Given the description of an element on the screen output the (x, y) to click on. 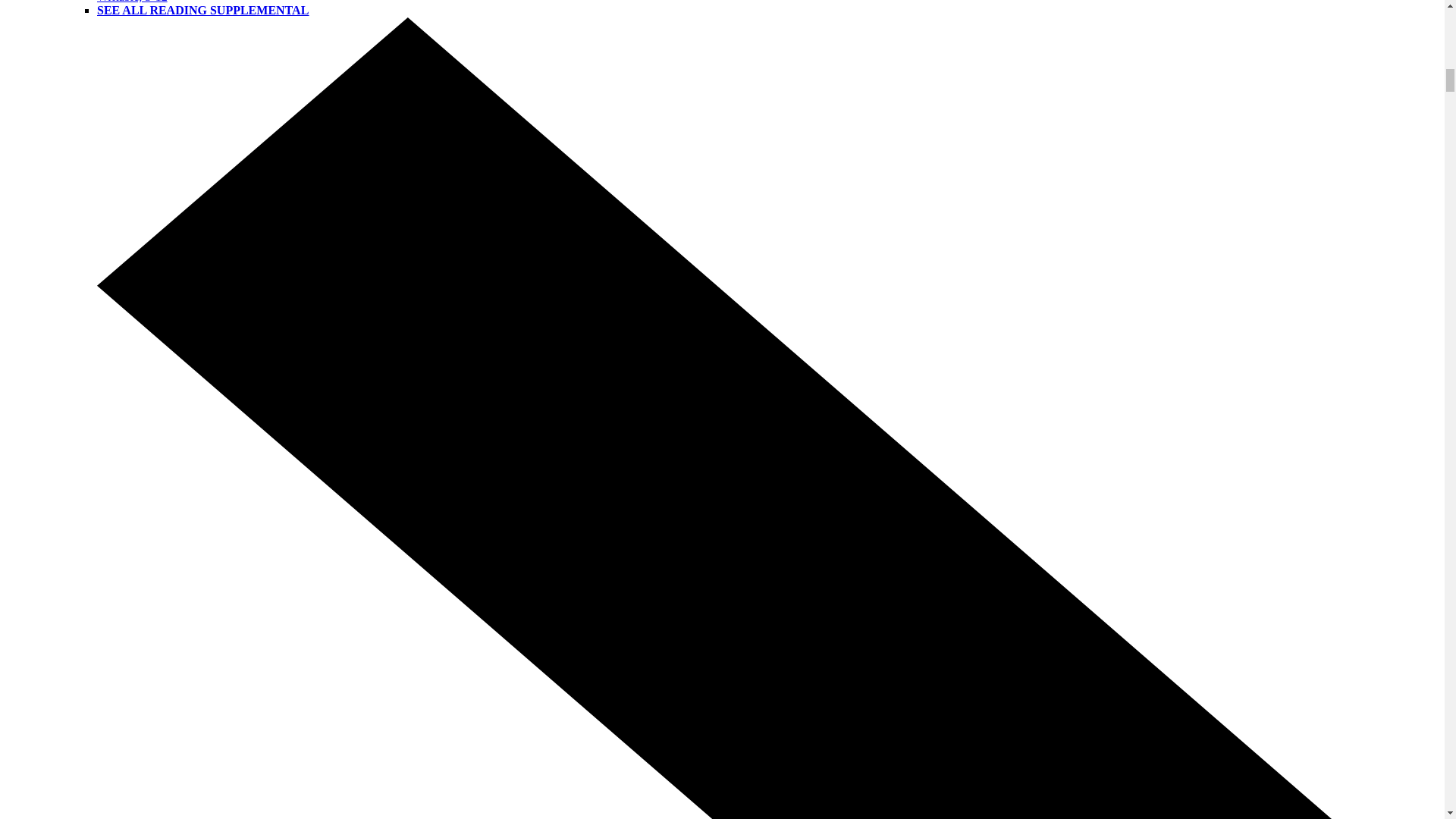
Writable, 3-12 (132, 1)
Writable, 3-12 (132, 1)
